Given the description of an element on the screen output the (x, y) to click on. 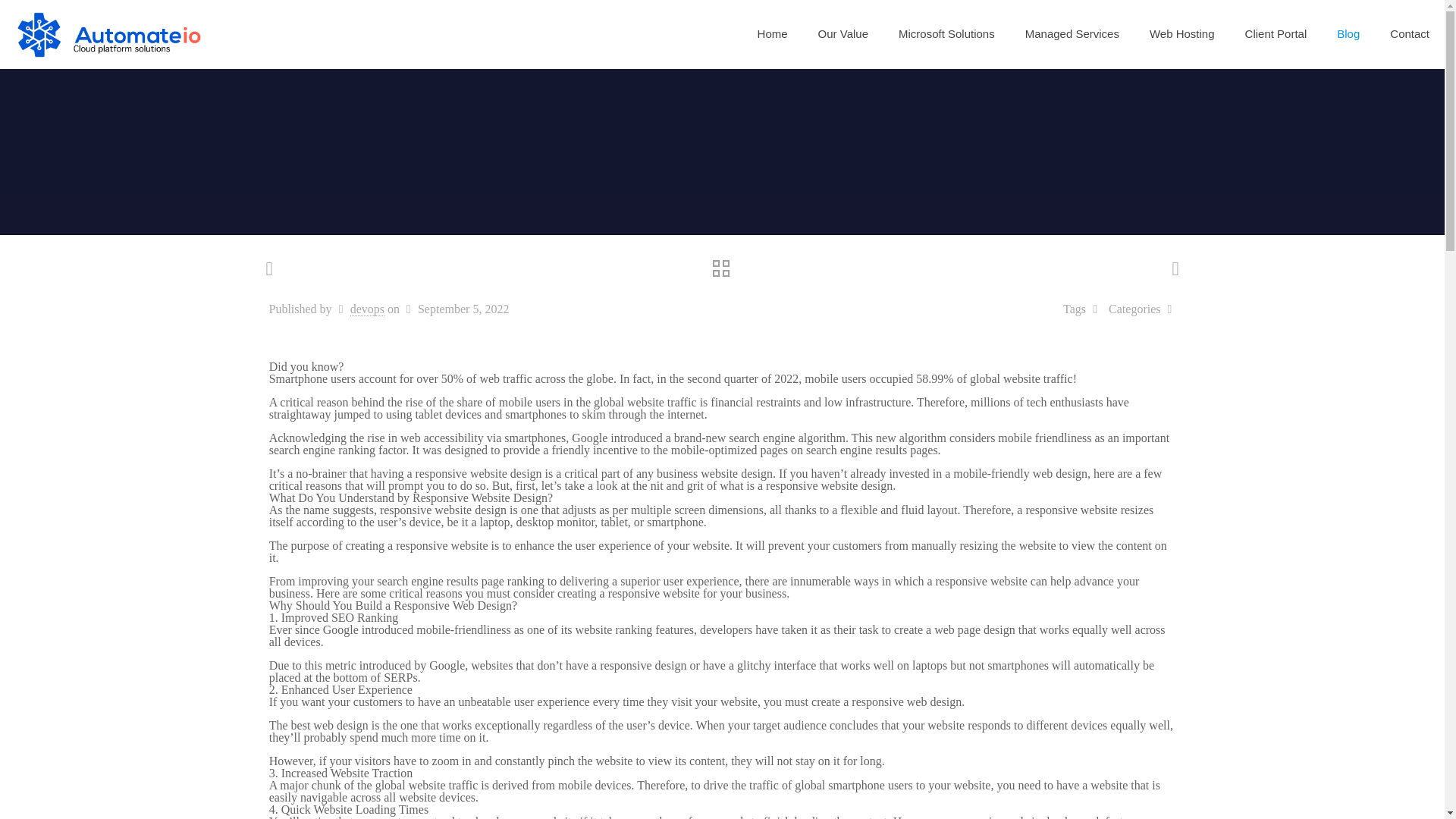
Our Value (843, 33)
Microsoft Solutions (946, 33)
Web Hosting (1182, 33)
Automate io (108, 33)
devops (367, 309)
Managed Services (1072, 33)
Client Portal (1276, 33)
